Given the description of an element on the screen output the (x, y) to click on. 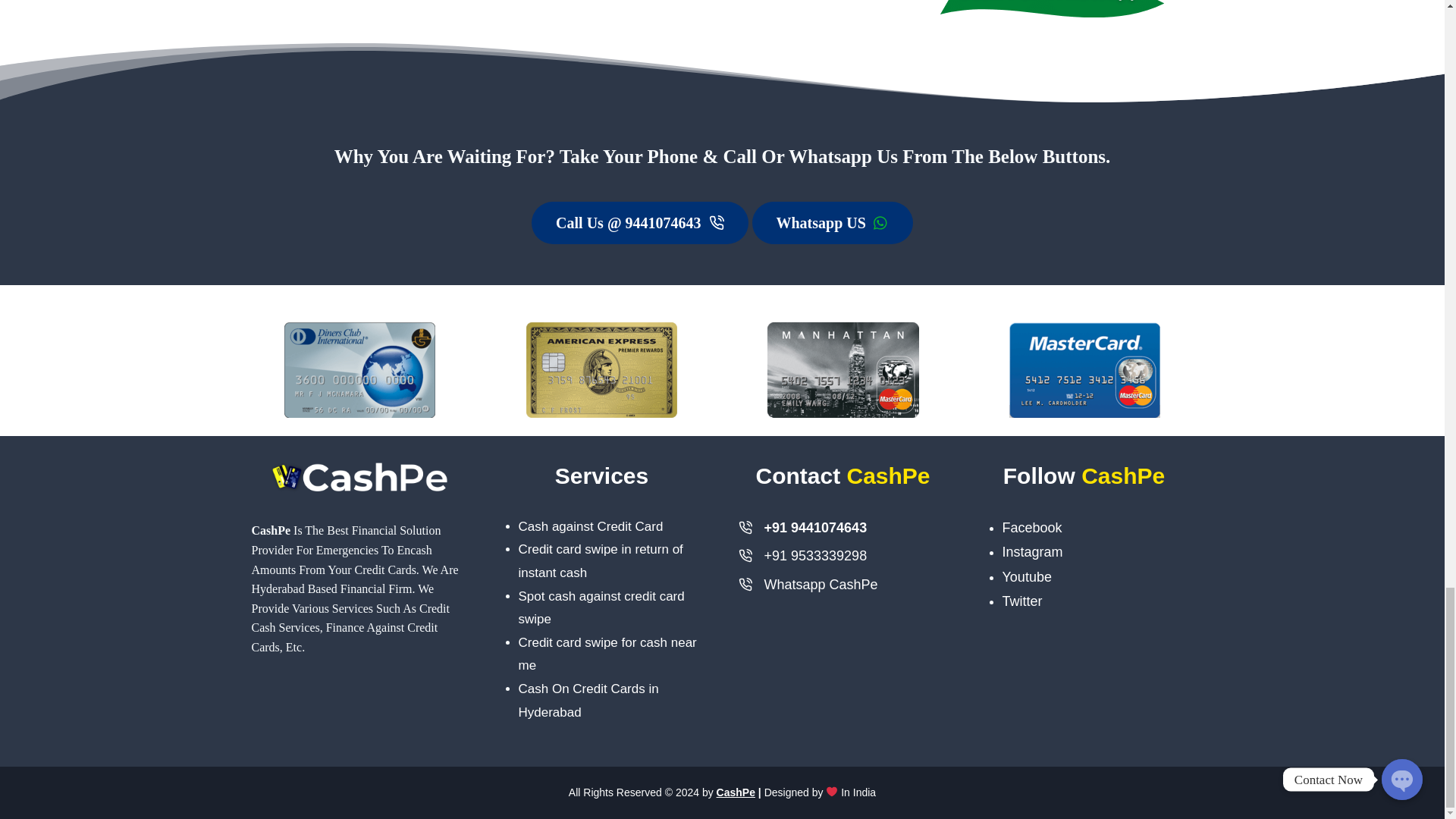
Cash On Credit Cards in Hyderabad (588, 700)
Spot cash against credit card swipe (601, 607)
Credit card swipe for cash near me (607, 654)
Whatsapp CashPe (820, 584)
CashPe (735, 792)
Cash against Credit Card (590, 526)
Twitter (1022, 601)
Whatsapp US (832, 222)
Youtube (1027, 576)
Facebook (1032, 527)
Instagram (1032, 551)
Credit card swipe in return of instant cash (600, 560)
